Given the description of an element on the screen output the (x, y) to click on. 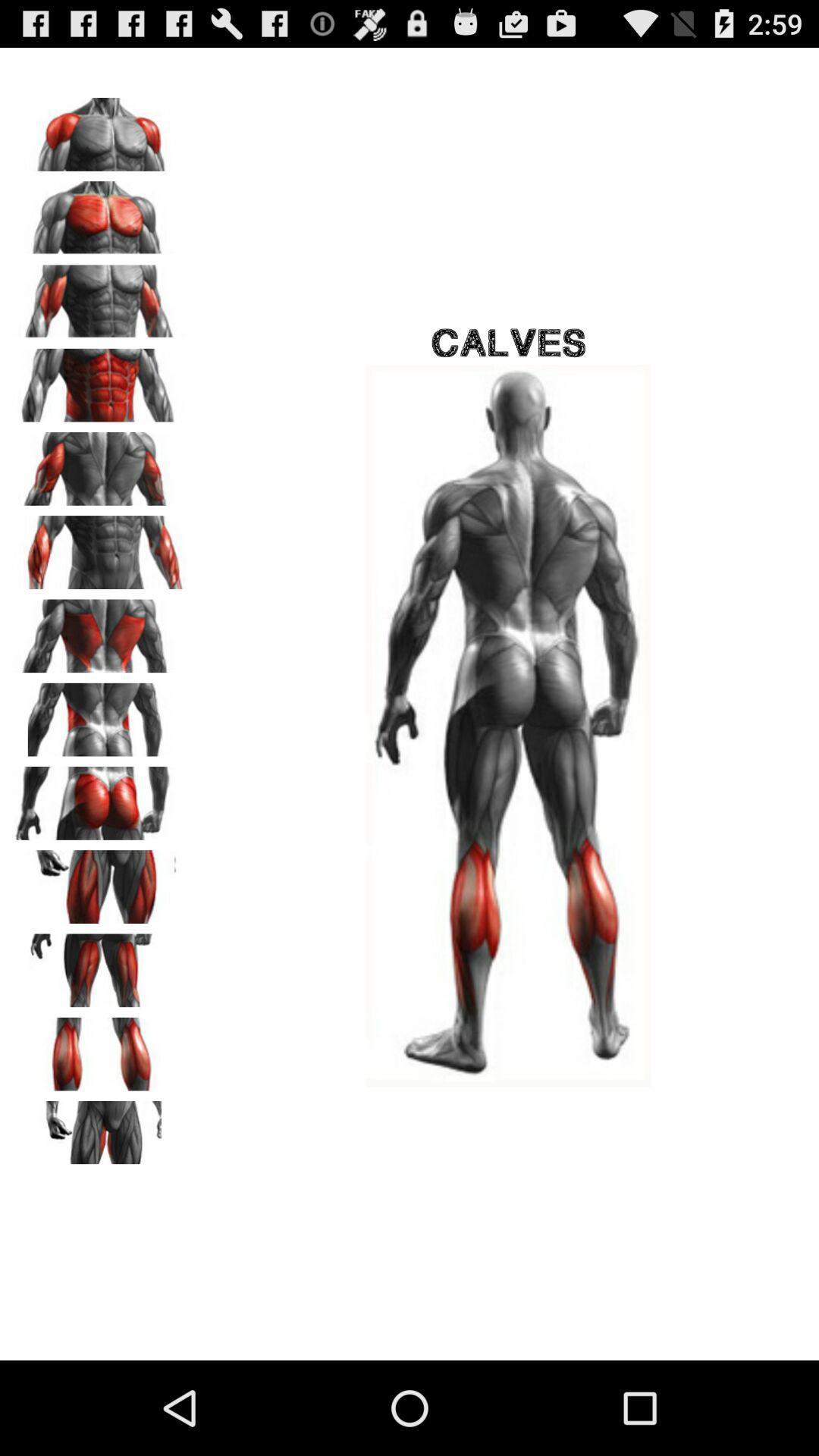
see ab exercises (99, 380)
